Given the description of an element on the screen output the (x, y) to click on. 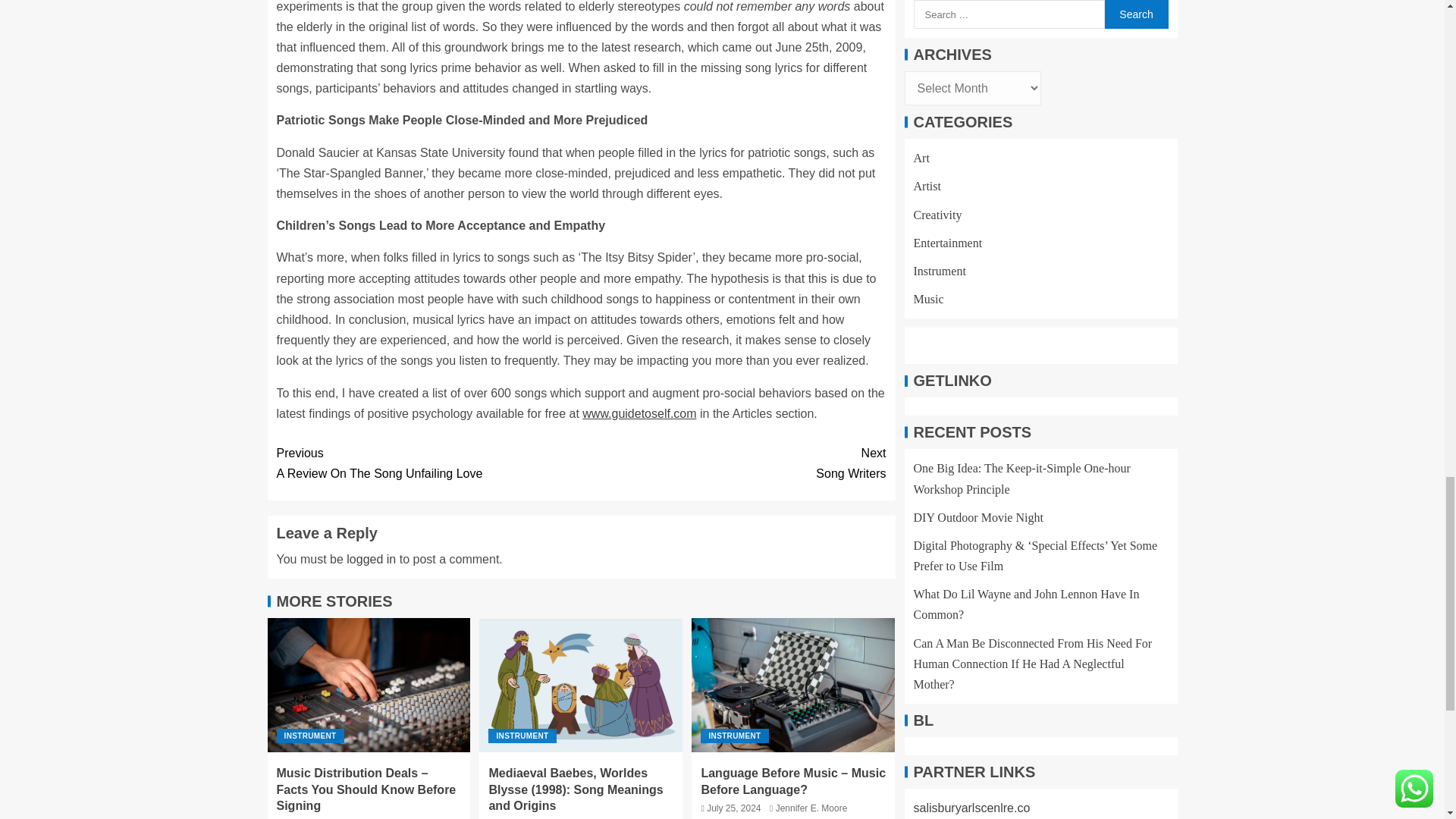
INSTRUMENT (428, 463)
logged in (309, 735)
INSTRUMENT (371, 558)
www.guidetoself.com (734, 735)
INSTRUMENT (638, 413)
